Given the description of an element on the screen output the (x, y) to click on. 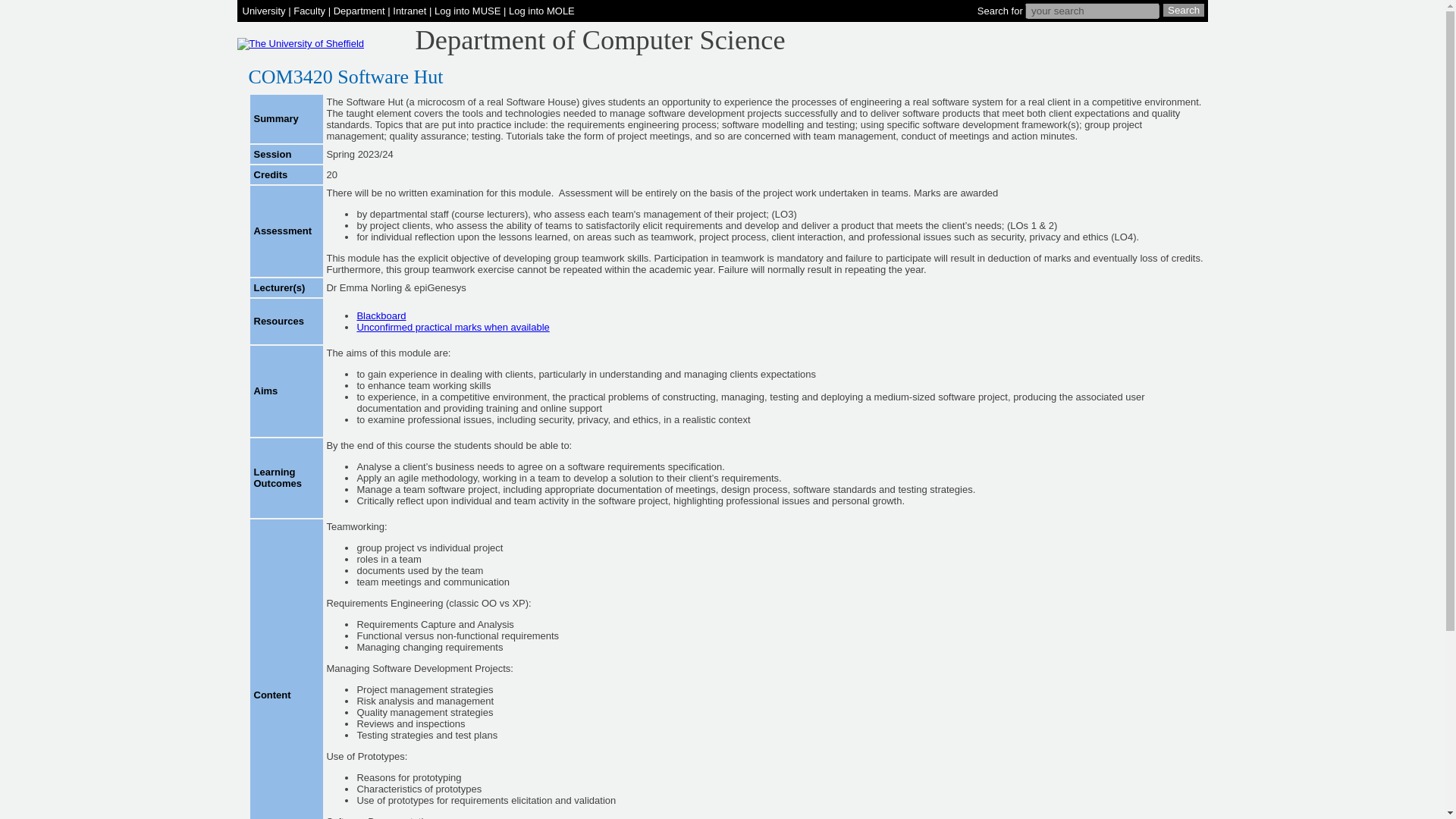
Unconfirmed practical marks when available (452, 326)
The University of Sheffield homepage (299, 43)
Access Key: 1 (409, 10)
Intranet (409, 10)
University (264, 10)
Access Key: M (466, 10)
Log into MUSE (466, 10)
Blackboard (381, 315)
Faculty (309, 10)
Log into MOLE (541, 10)
